Given the description of an element on the screen output the (x, y) to click on. 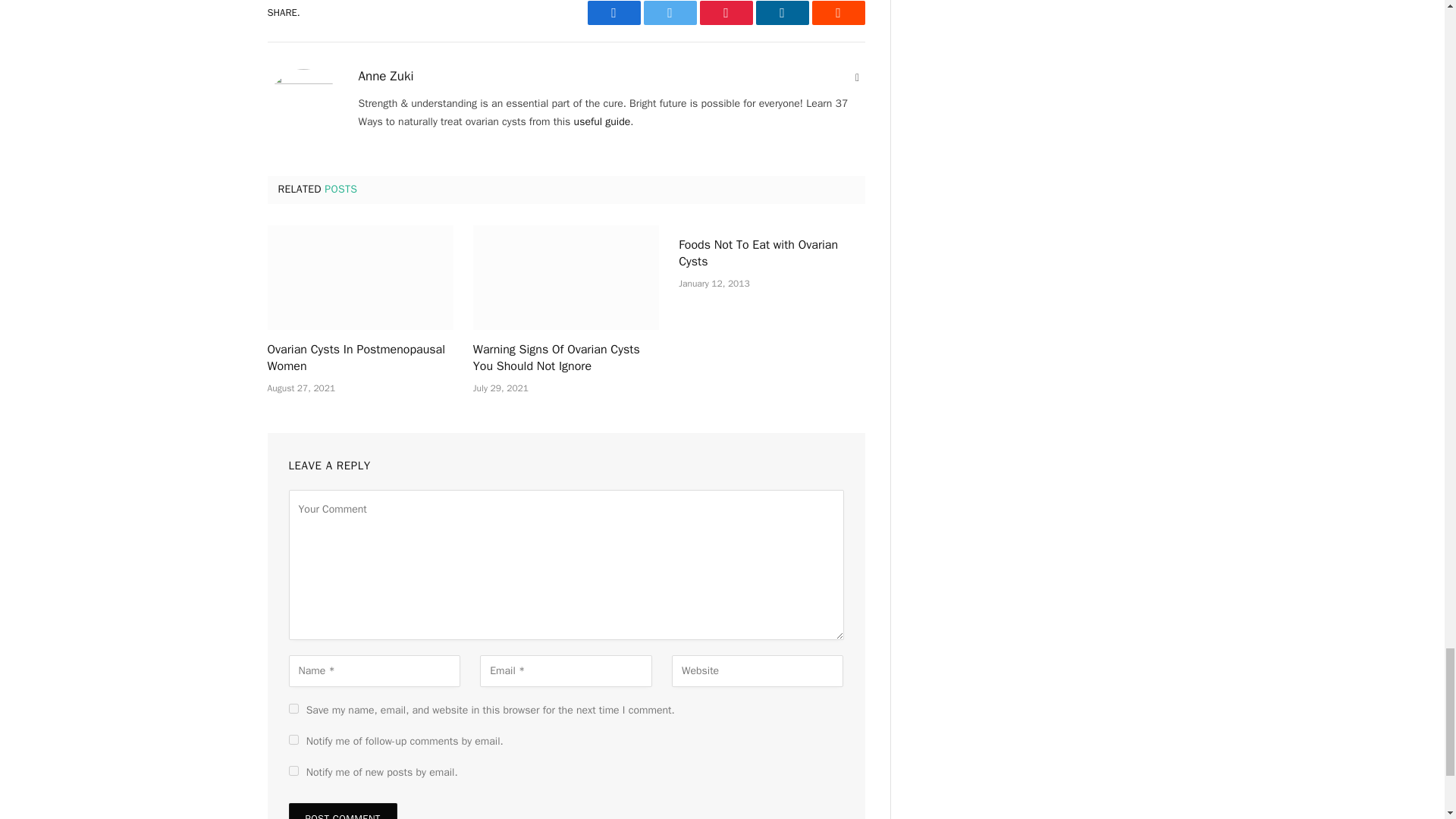
Reddit (837, 12)
LinkedIn (781, 12)
Website (856, 77)
yes (293, 708)
Share on LinkedIn (781, 12)
subscribe (293, 739)
Foods Not To Eat with Ovarian Cysts (771, 254)
Post Comment (342, 811)
Anne Zuki (385, 76)
Twitter (669, 12)
